Given the description of an element on the screen output the (x, y) to click on. 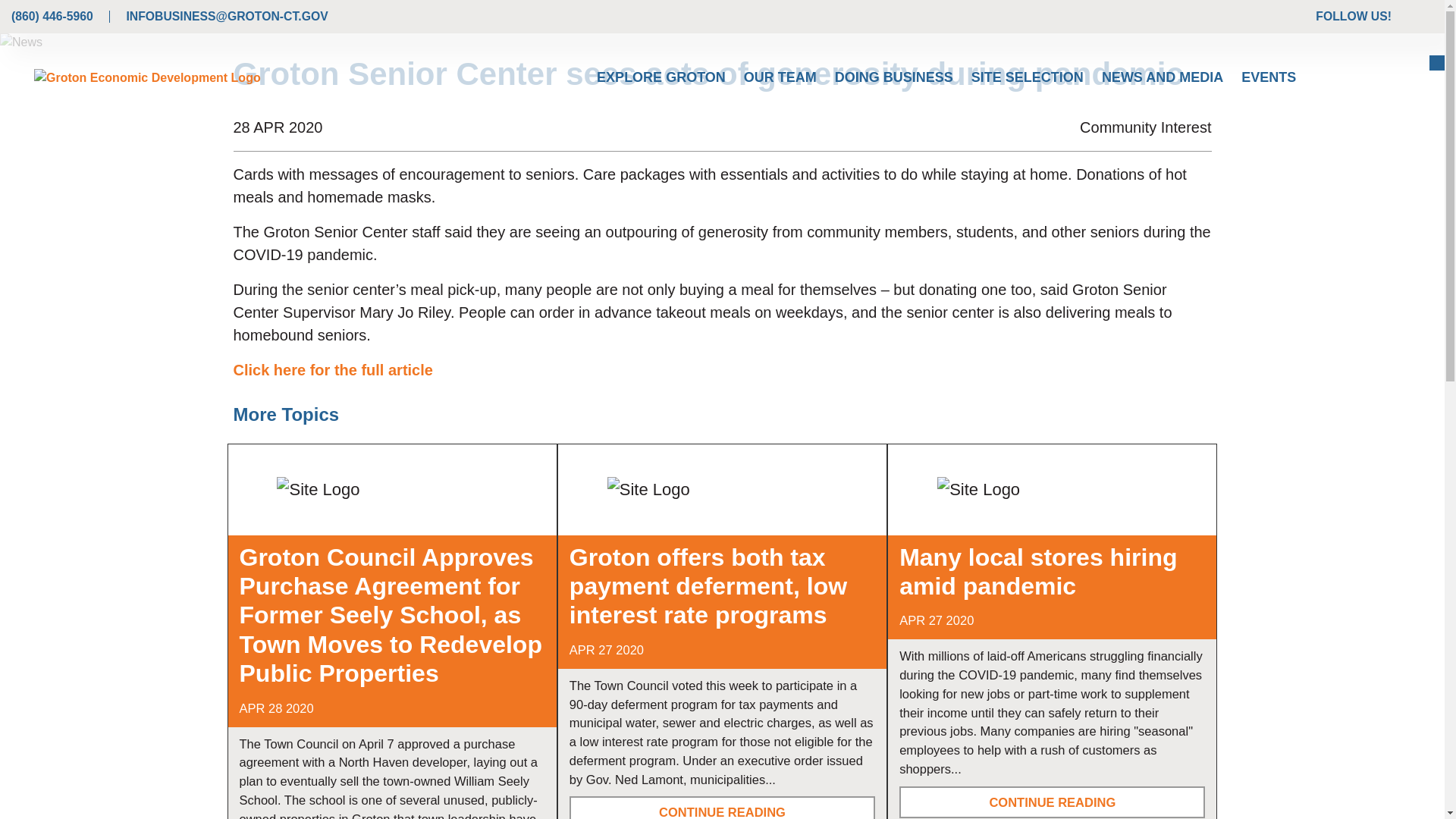
EXPLORE GROTON (661, 77)
SITE SELECTION (1027, 77)
DOING BUSINESS (893, 77)
OUR TEAM (780, 77)
